Given the description of an element on the screen output the (x, y) to click on. 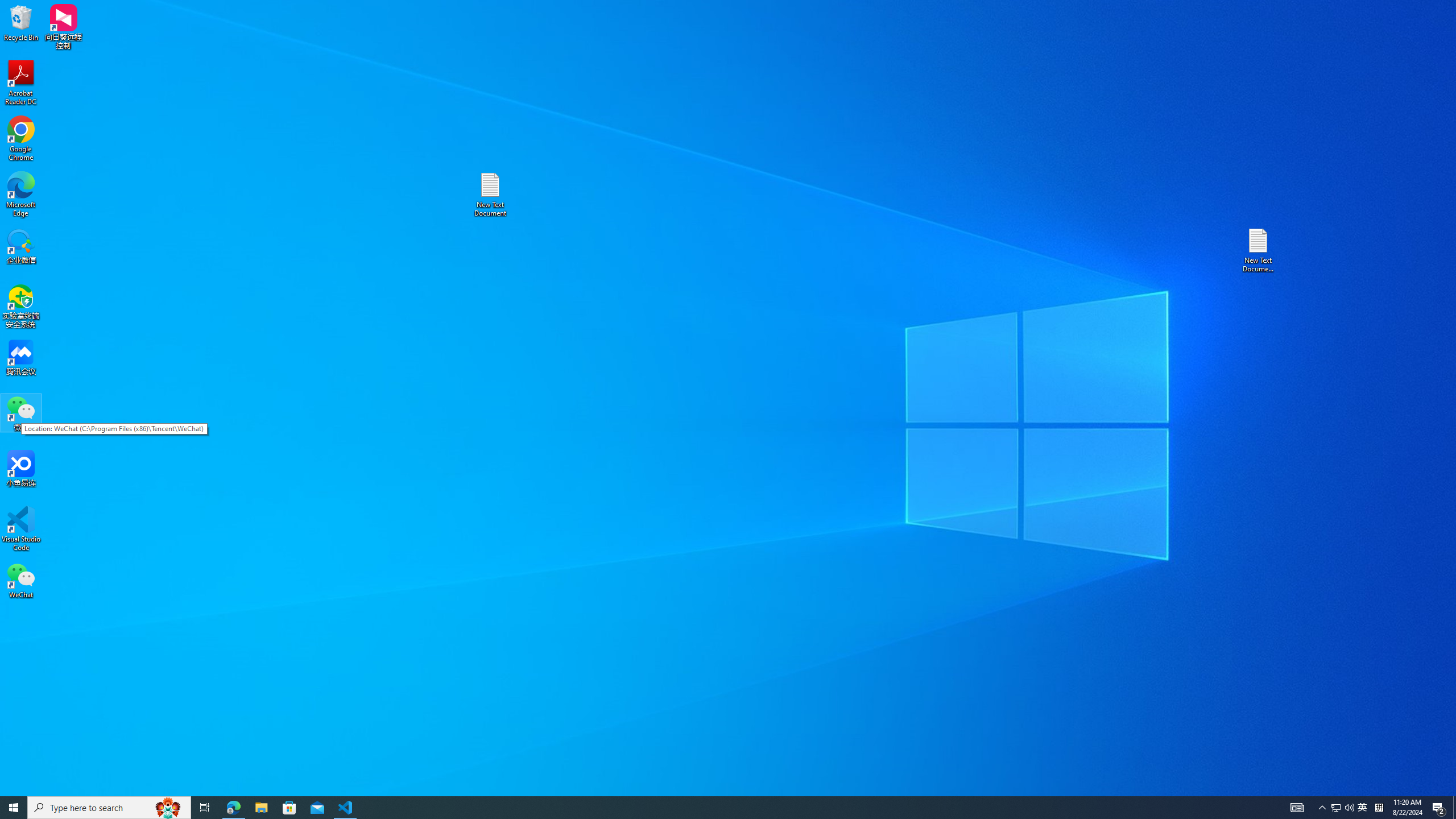
New Text Document (2) (1258, 250)
File Explorer (261, 807)
Microsoft Edge (21, 194)
Show desktop (1362, 807)
Notification Chevron (1454, 807)
Running applications (1322, 807)
Visual Studio Code (707, 807)
Microsoft Store (21, 528)
